Given the description of an element on the screen output the (x, y) to click on. 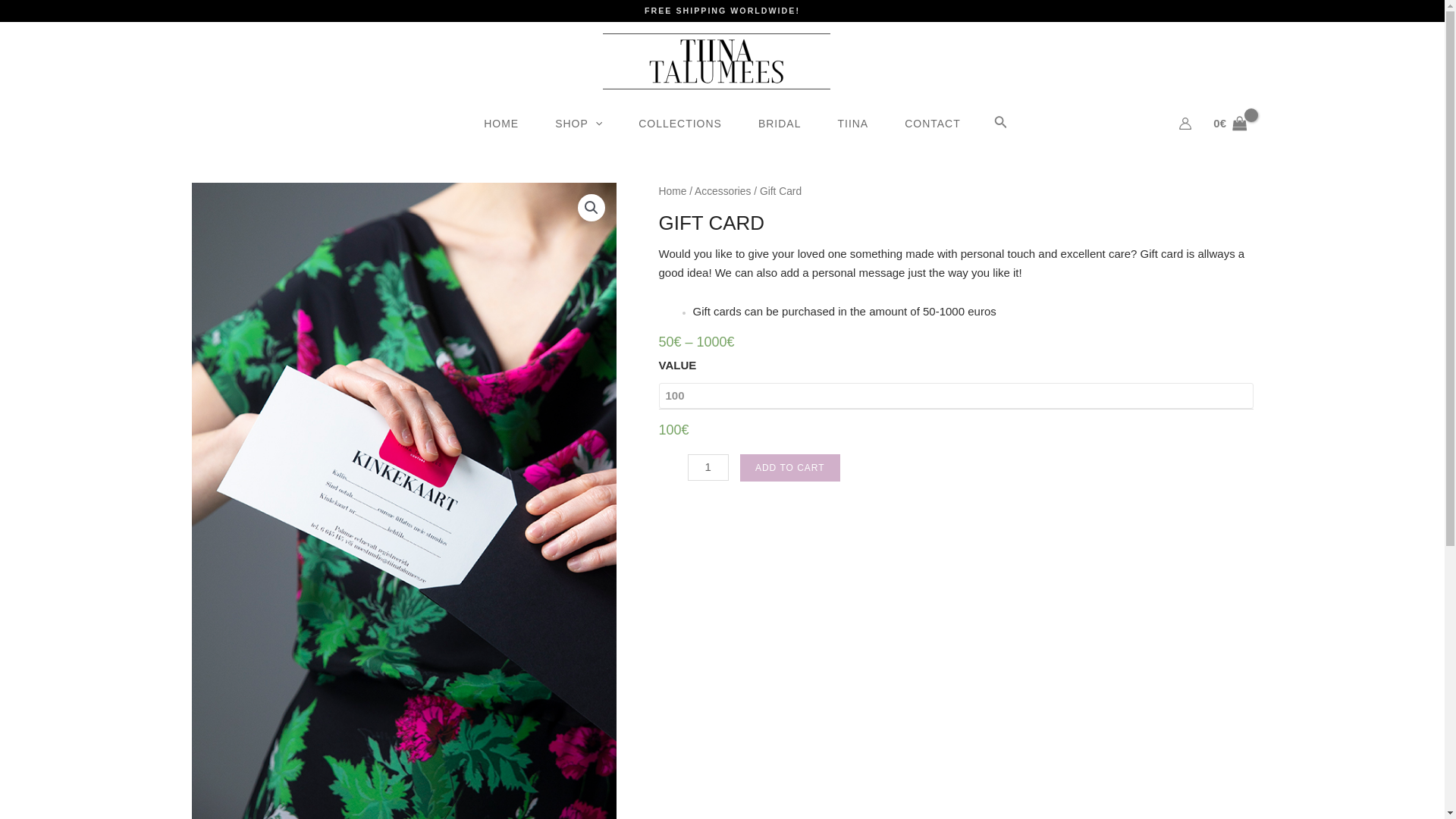
1 (707, 467)
SHOP (578, 123)
COLLECTIONS (679, 123)
CONTACT (932, 123)
TIINA (852, 123)
BRIDAL (779, 123)
HOME (501, 123)
